Given the description of an element on the screen output the (x, y) to click on. 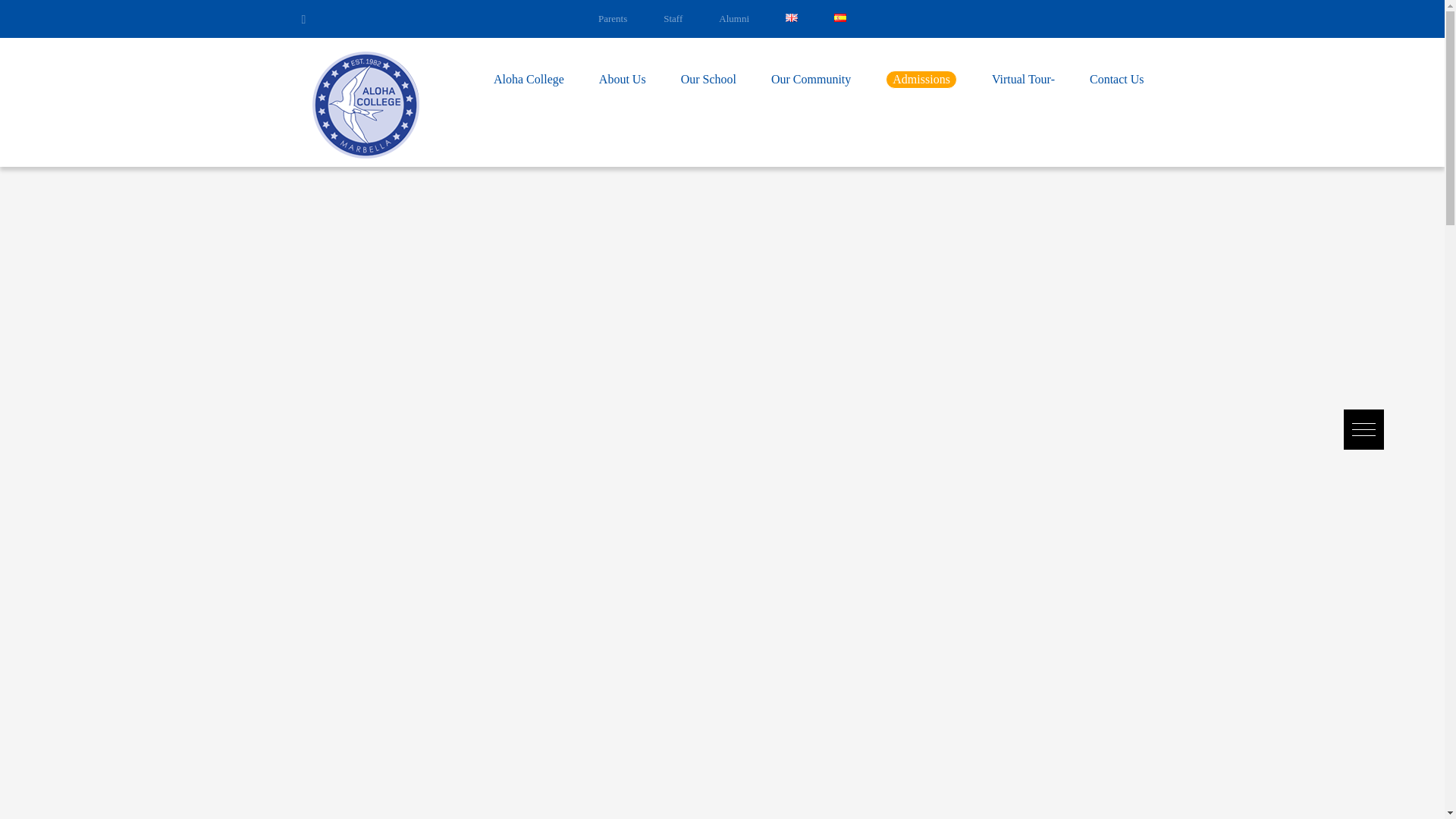
Access (612, 18)
Access (734, 18)
Access (672, 18)
